Given the description of an element on the screen output the (x, y) to click on. 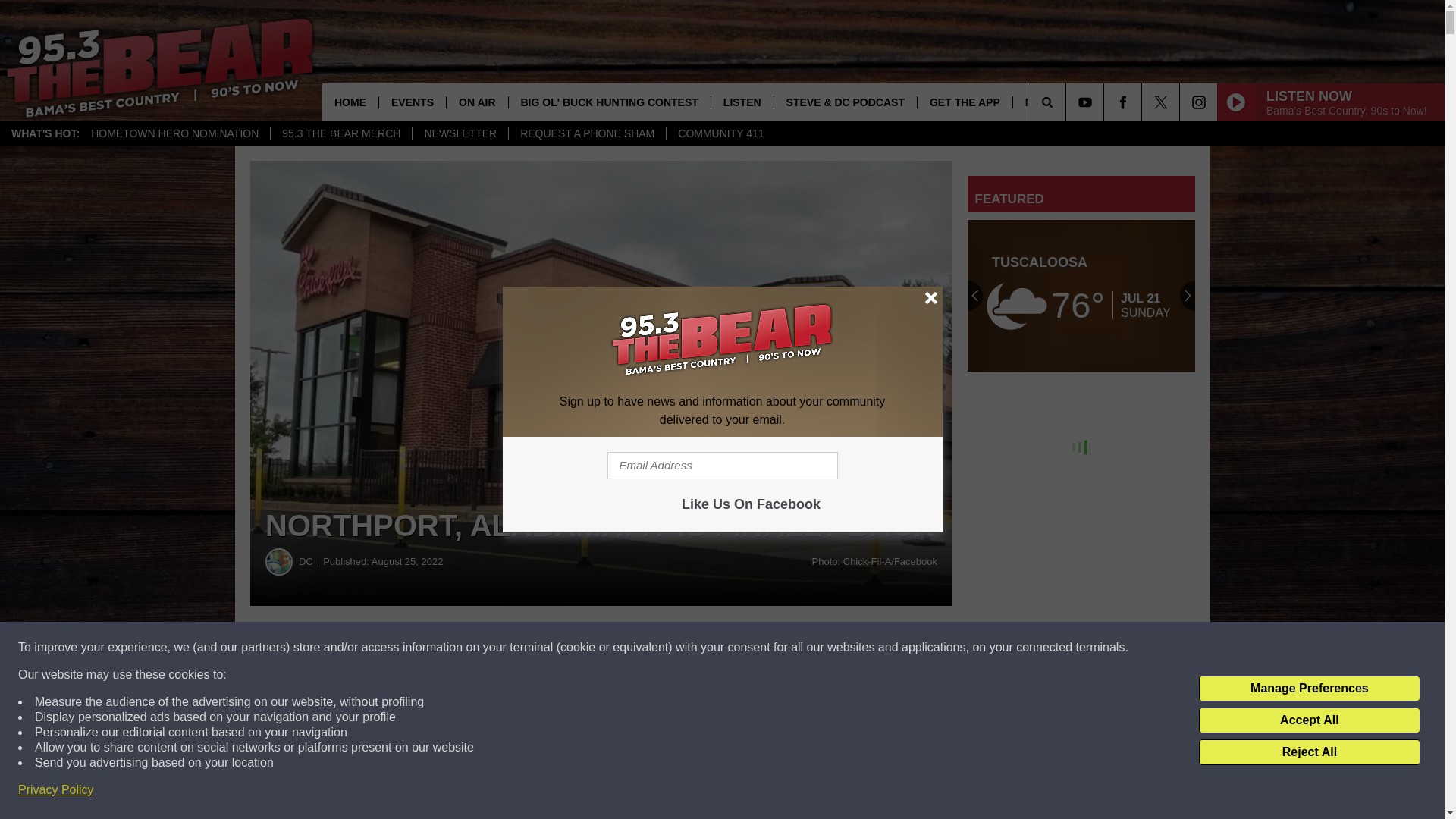
Tuscaloosa Weather (1081, 295)
HOMETOWN HERO NOMINATION (174, 133)
Accept All (1309, 720)
GET THE APP (964, 102)
ON AIR (475, 102)
COMMUNITY 411 (719, 133)
Reject All (1309, 751)
EVENTS (411, 102)
Email Address (722, 465)
HOME (349, 102)
Privacy Policy (55, 789)
SEARCH (1068, 102)
Manage Preferences (1309, 688)
Share on Twitter (741, 647)
NEWSLETTER (460, 133)
